Given the description of an element on the screen output the (x, y) to click on. 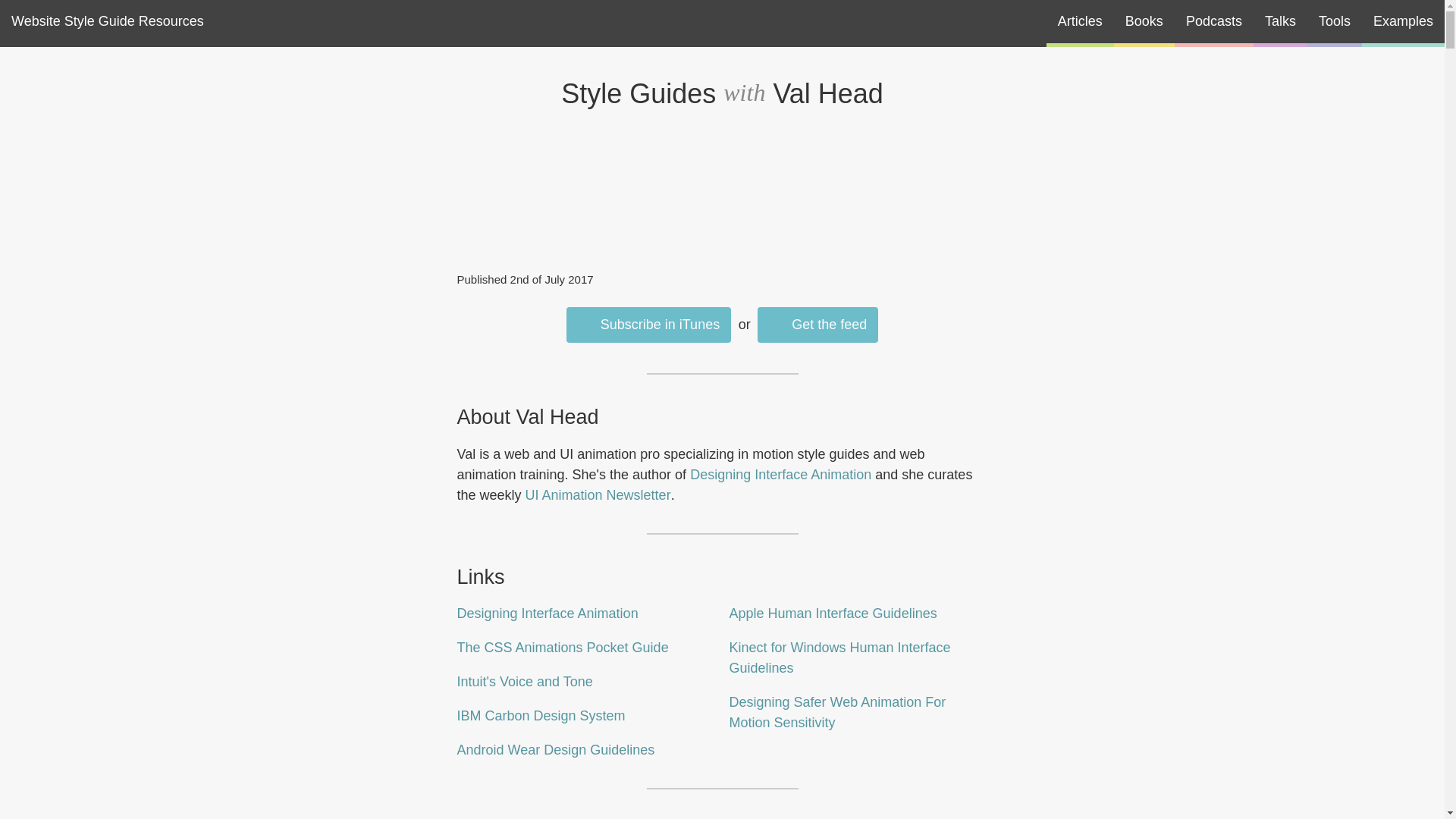
Tools (1334, 21)
Books (1143, 21)
The CSS Animations Pocket Guide (562, 647)
UI Animation Newsletter (598, 494)
Intuit's Voice and Tone (524, 681)
Android Wear Design Guidelines (555, 749)
Articles (1079, 21)
Designing Interface Animation (547, 613)
Podcasts (1213, 21)
Talks (1280, 21)
